Given the description of an element on the screen output the (x, y) to click on. 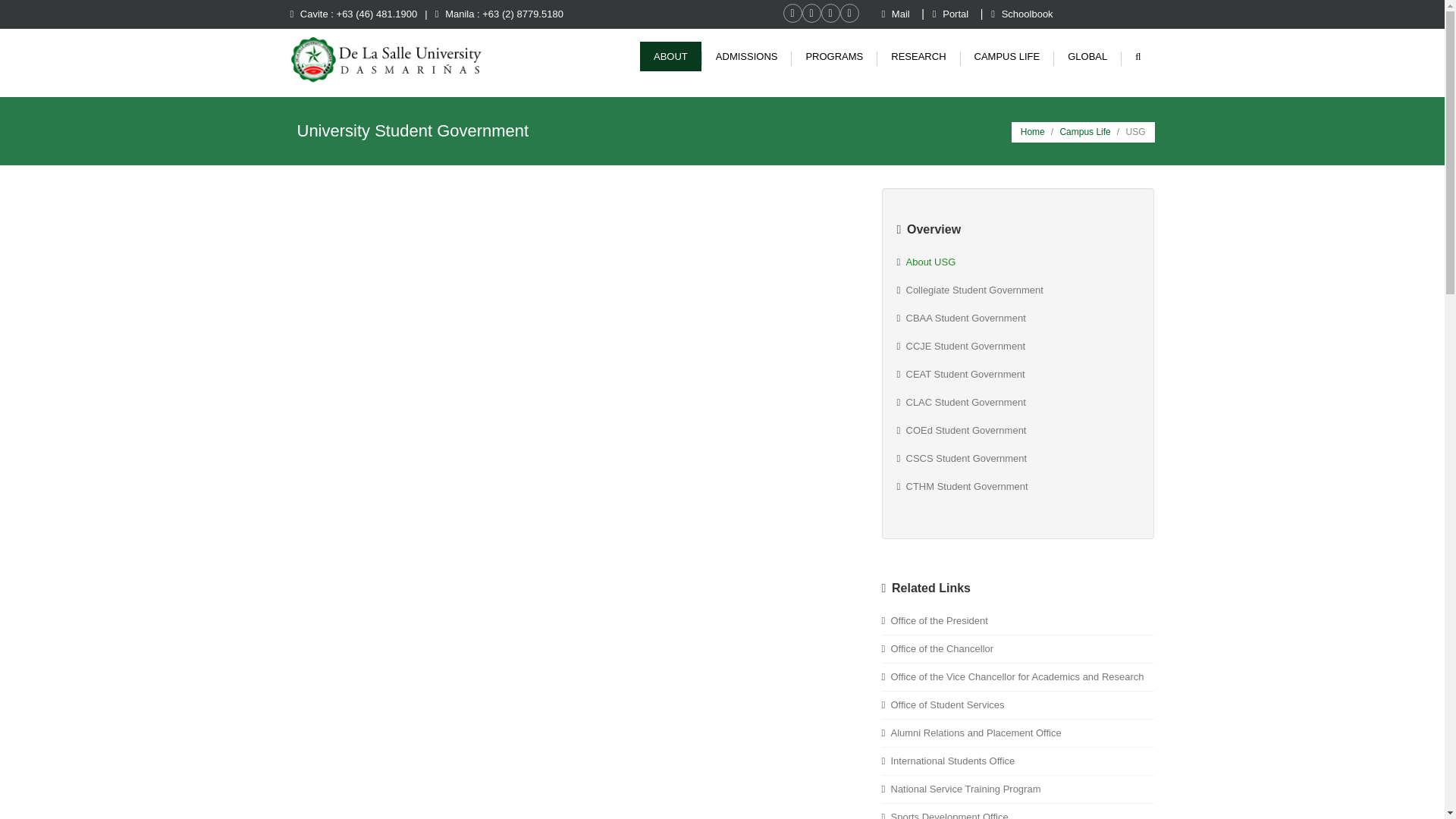
PROGRAMS (834, 56)
Schoolbook (1021, 13)
ABOUT (670, 56)
Portal (952, 13)
Mail (896, 13)
ADMISSIONS (746, 56)
